Given the description of an element on the screen output the (x, y) to click on. 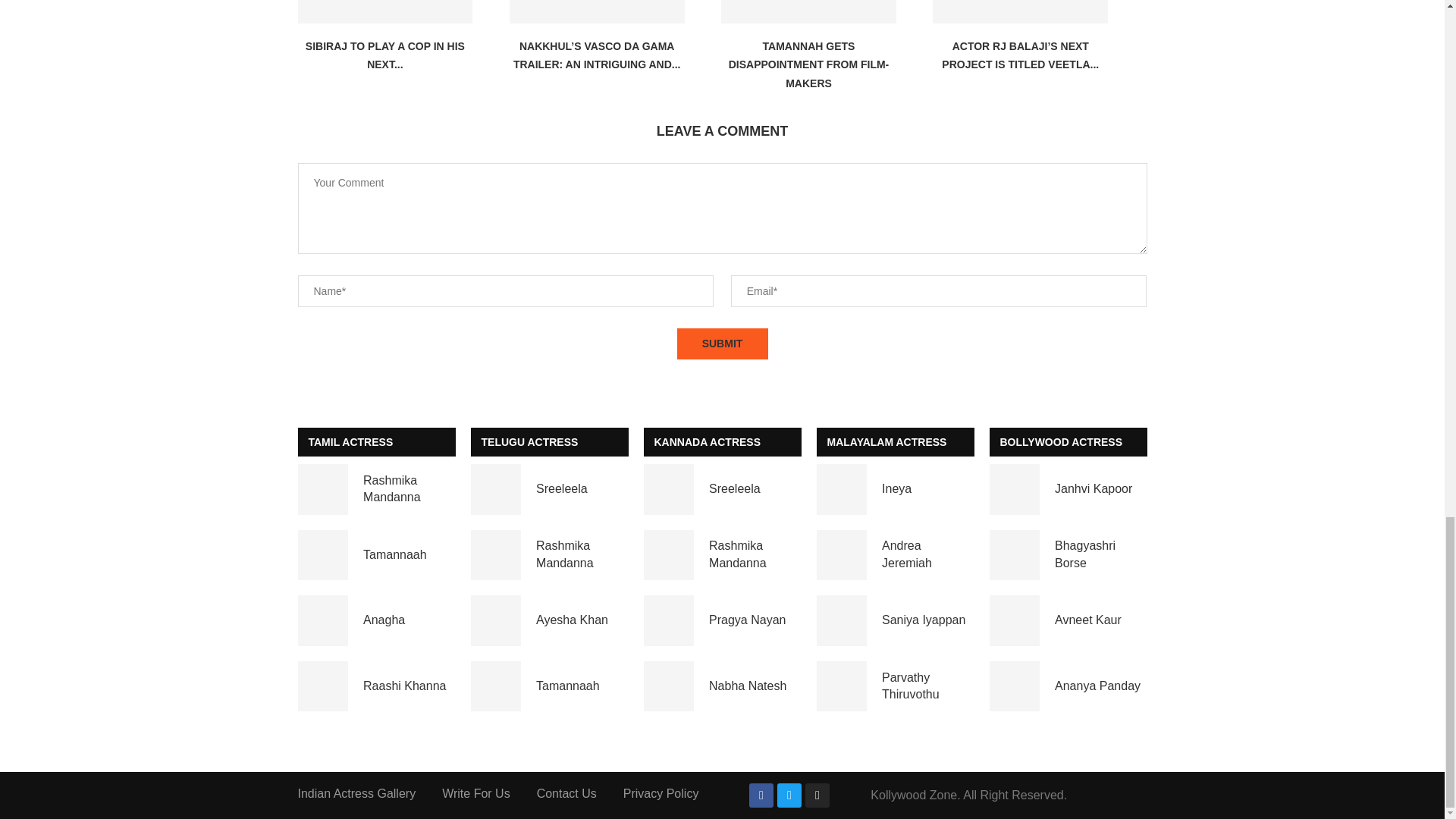
TAMANNAH GETS DISAPPOINTMENT FROM FILM-MAKERS (809, 64)
Raashi Khanna (322, 685)
Sreeleela (668, 489)
Tamannah gets disappointment from film-makers (808, 11)
SIBIRAJ TO PLAY A COP IN HIS NEXT... (384, 55)
Ayesha Khan (495, 620)
Rashmika Mandanna (495, 554)
Tamannaah (322, 554)
Sibiraj to play a cop in his next flick (384, 11)
Anagha (322, 620)
